Given the description of an element on the screen output the (x, y) to click on. 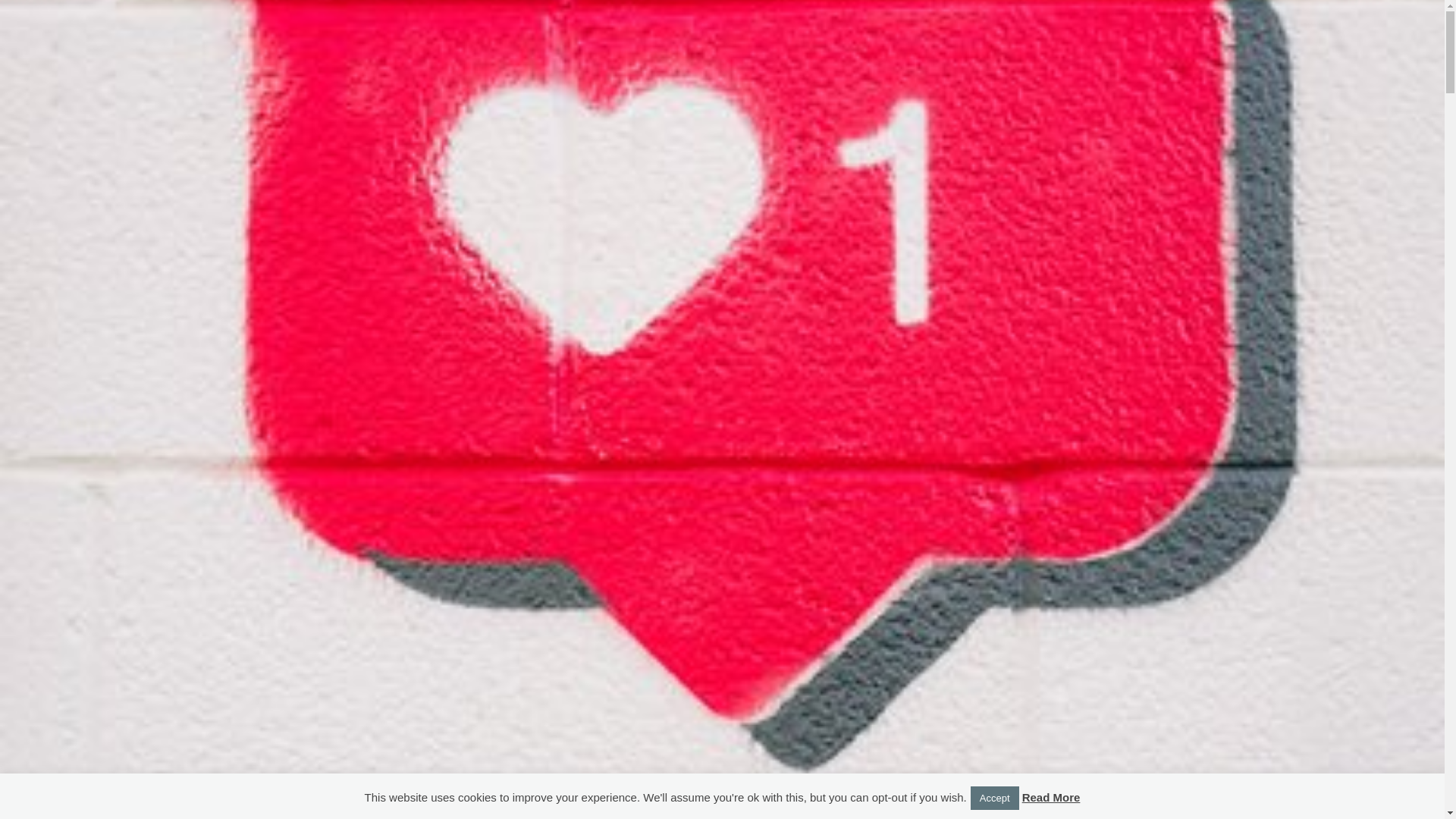
DEBT (460, 753)
Investing (460, 725)
Debt (460, 546)
Homeownership (460, 655)
SAVING (460, 775)
Jordann Kaye (460, 62)
Saving (460, 509)
Budgeting (460, 582)
Lifestyle (460, 619)
BUDGETING (460, 731)
